Given the description of an element on the screen output the (x, y) to click on. 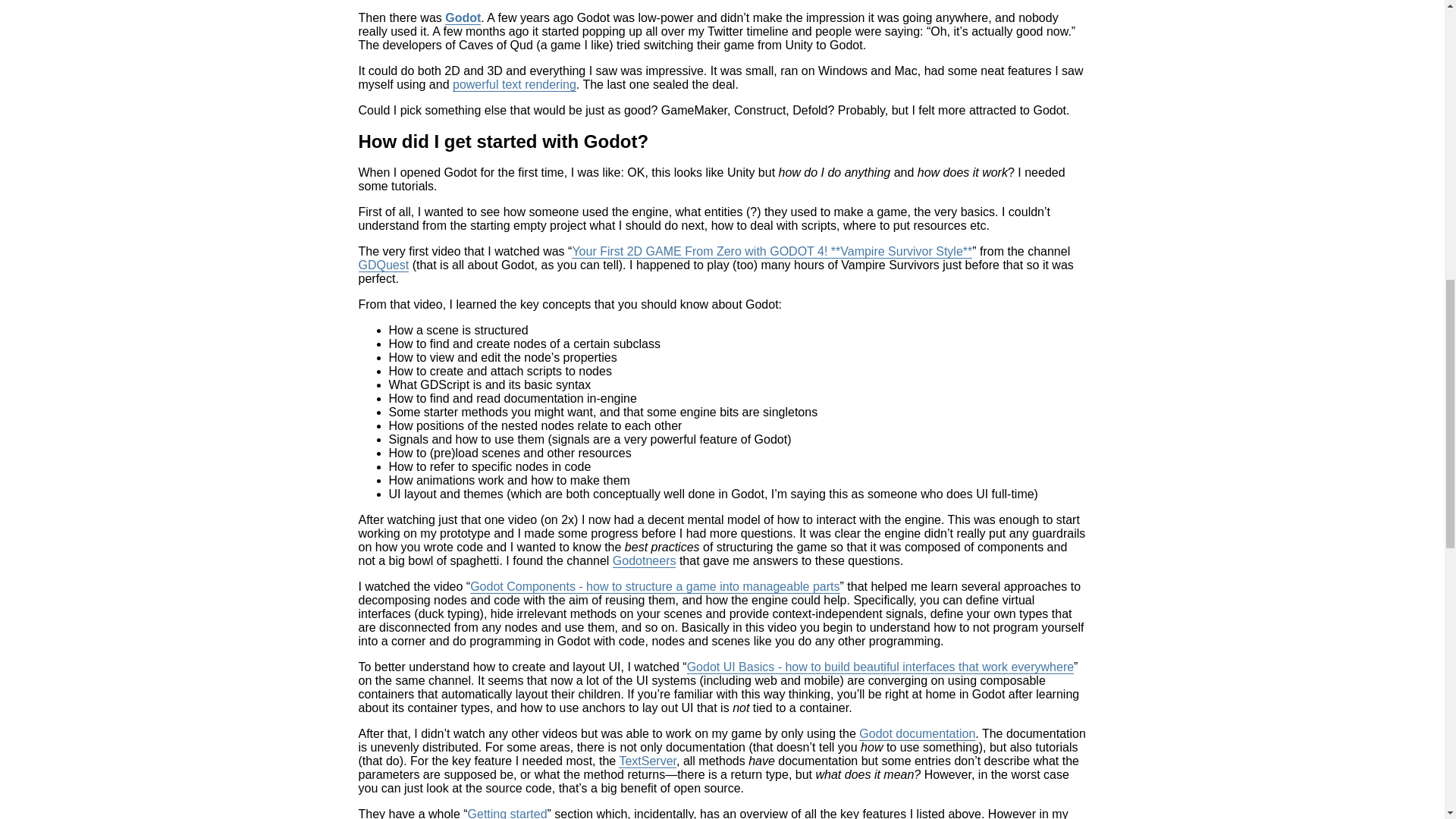
GDQuest (383, 264)
TextServer (647, 761)
powerful text rendering (514, 84)
Godotneers (644, 561)
Godot documentation (917, 734)
Getting started (507, 813)
Godot (462, 18)
